Given the description of an element on the screen output the (x, y) to click on. 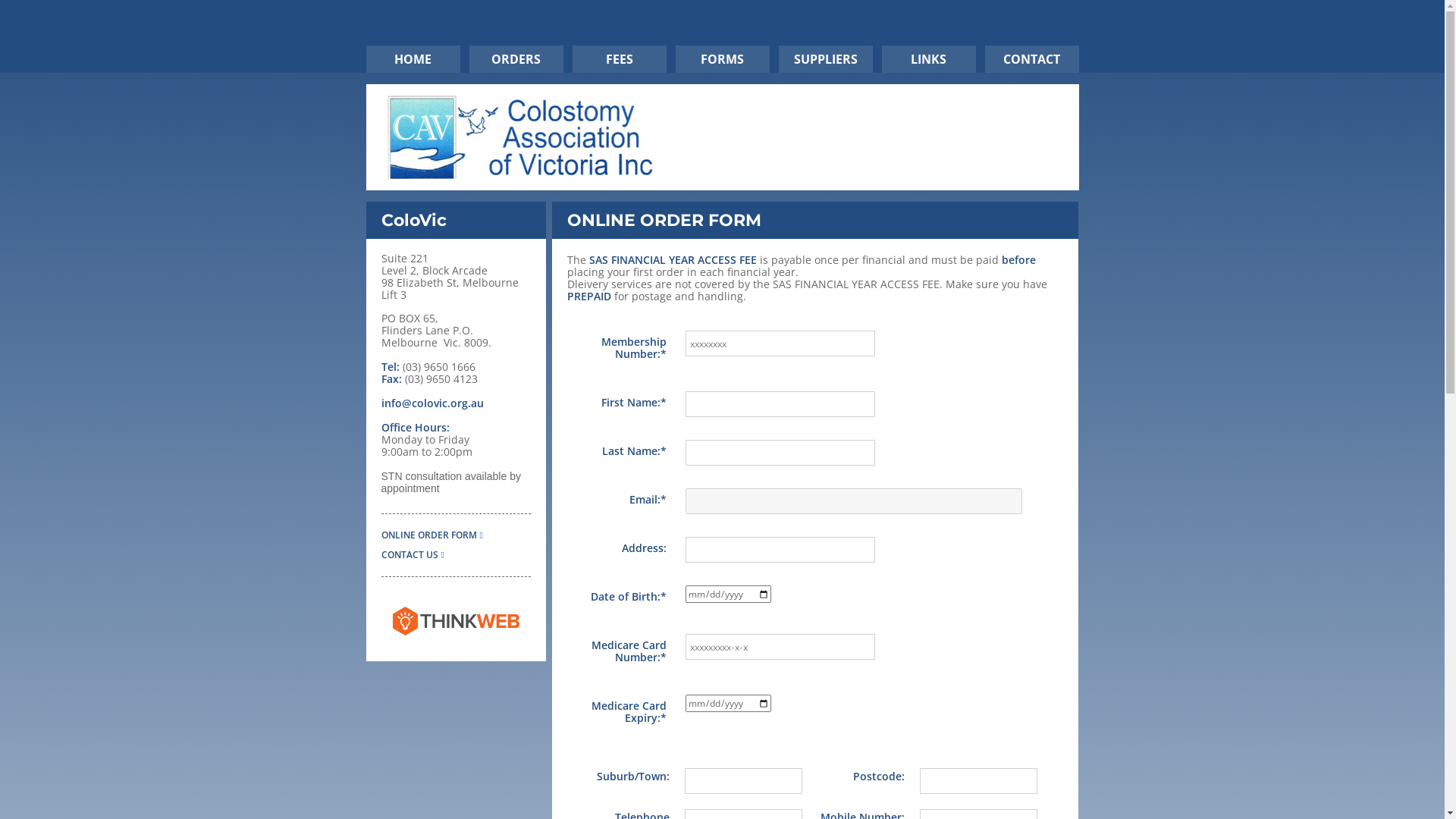
FEES Element type: text (618, 58)
SUPPLIERS Element type: text (825, 58)
HOME Element type: text (412, 58)
CONTACT US Element type: text (411, 554)
FORMS Element type: text (721, 58)
CONTACT Element type: text (1031, 58)
LINKS Element type: text (928, 58)
ONLINE ORDER FORM Element type: text (431, 523)
ORDERS Element type: text (515, 58)
info@colovic.org.au Element type: text (431, 402)
